Given the description of an element on the screen output the (x, y) to click on. 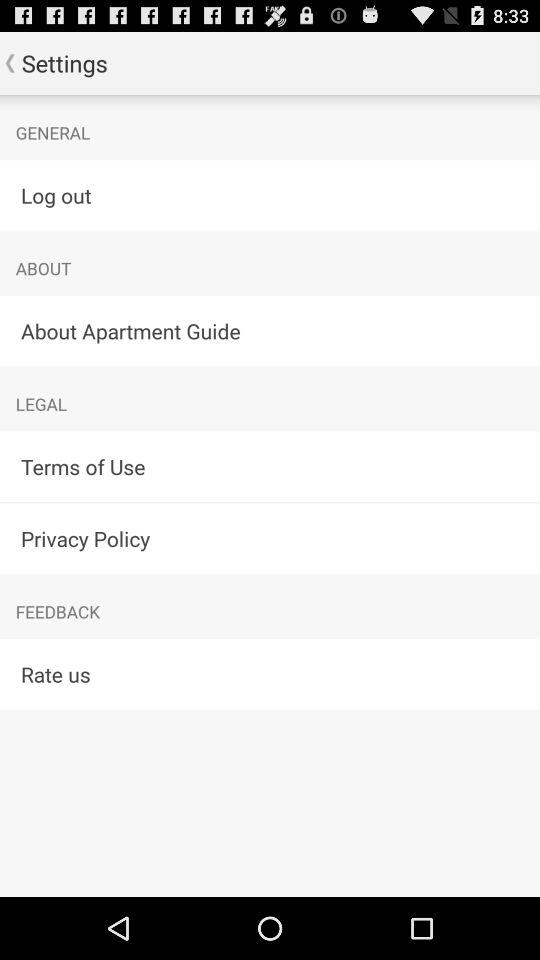
turn off about apartment guide icon (270, 330)
